Given the description of an element on the screen output the (x, y) to click on. 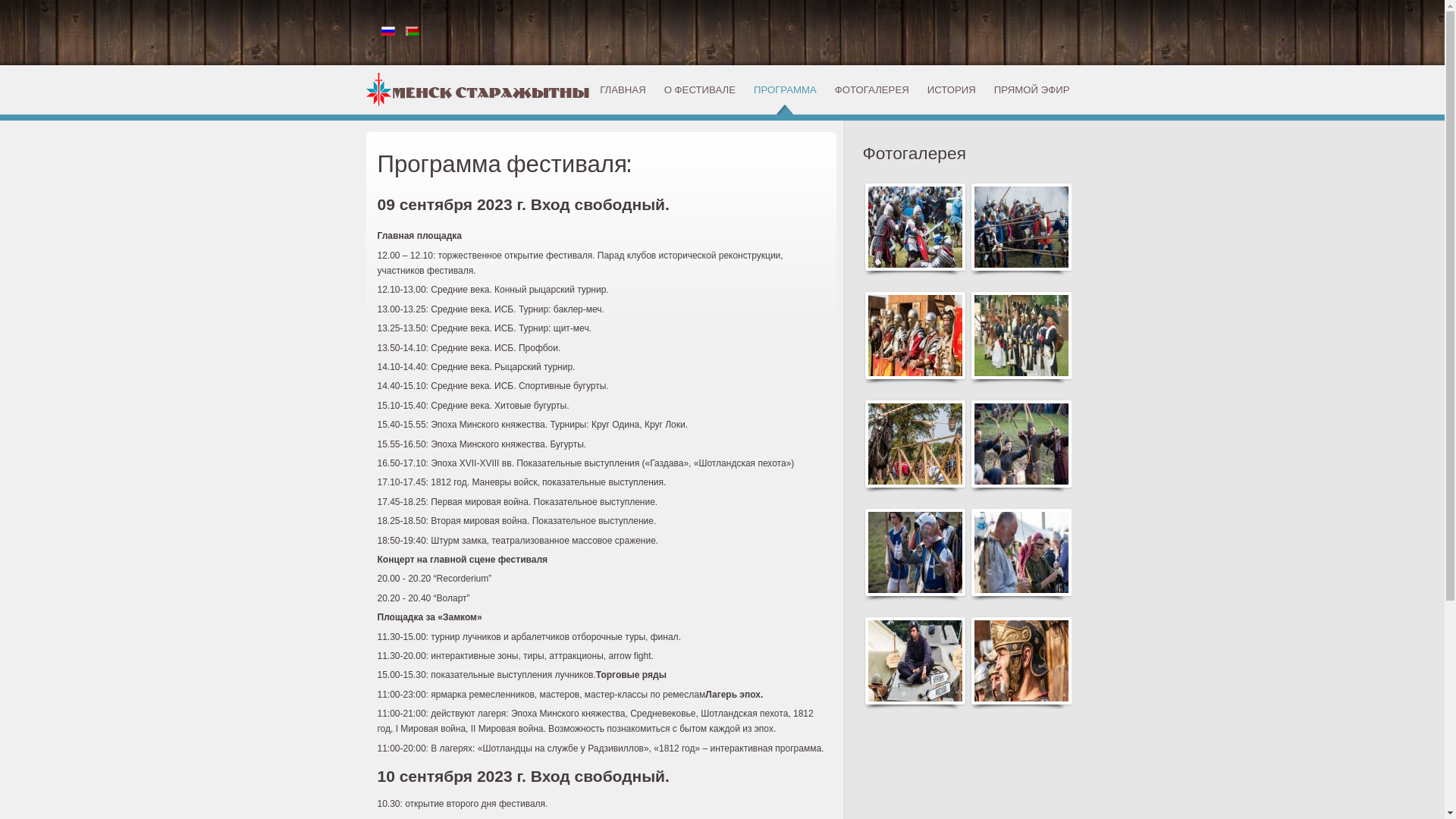
tank Element type: hover (914, 660)
napoleon Element type: hover (1020, 335)
luchniki Element type: hover (1020, 443)
yarmarka Element type: hover (1020, 552)
rytsari Element type: hover (1020, 226)
koni Element type: hover (914, 443)
Rome Element type: hover (1020, 660)
rome2 Element type: hover (914, 335)
1WW2 Element type: hover (914, 552)
rytsari2 Element type: hover (914, 226)
